Given the description of an element on the screen output the (x, y) to click on. 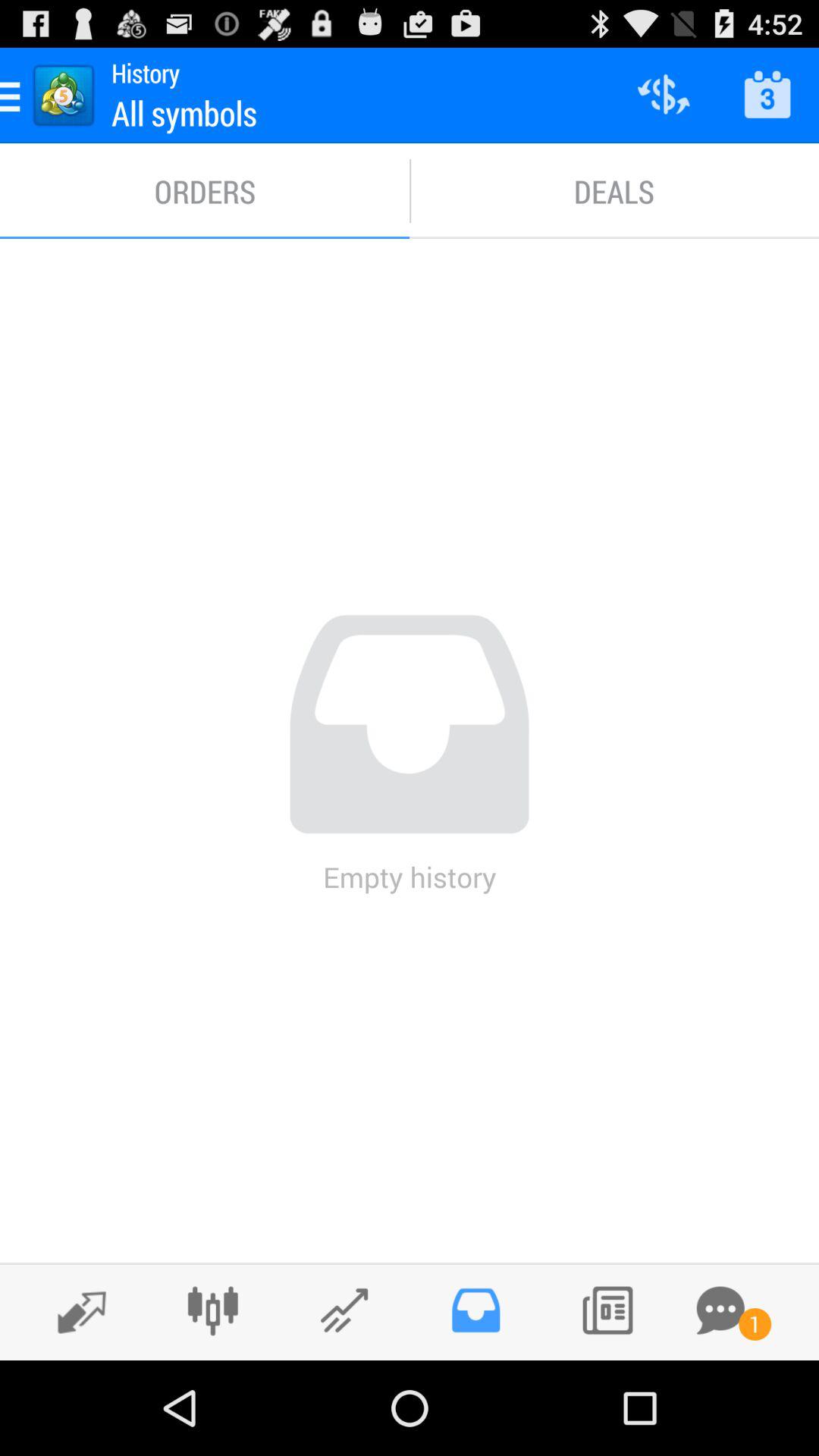
launch the item next to deals item (204, 190)
